Given the description of an element on the screen output the (x, y) to click on. 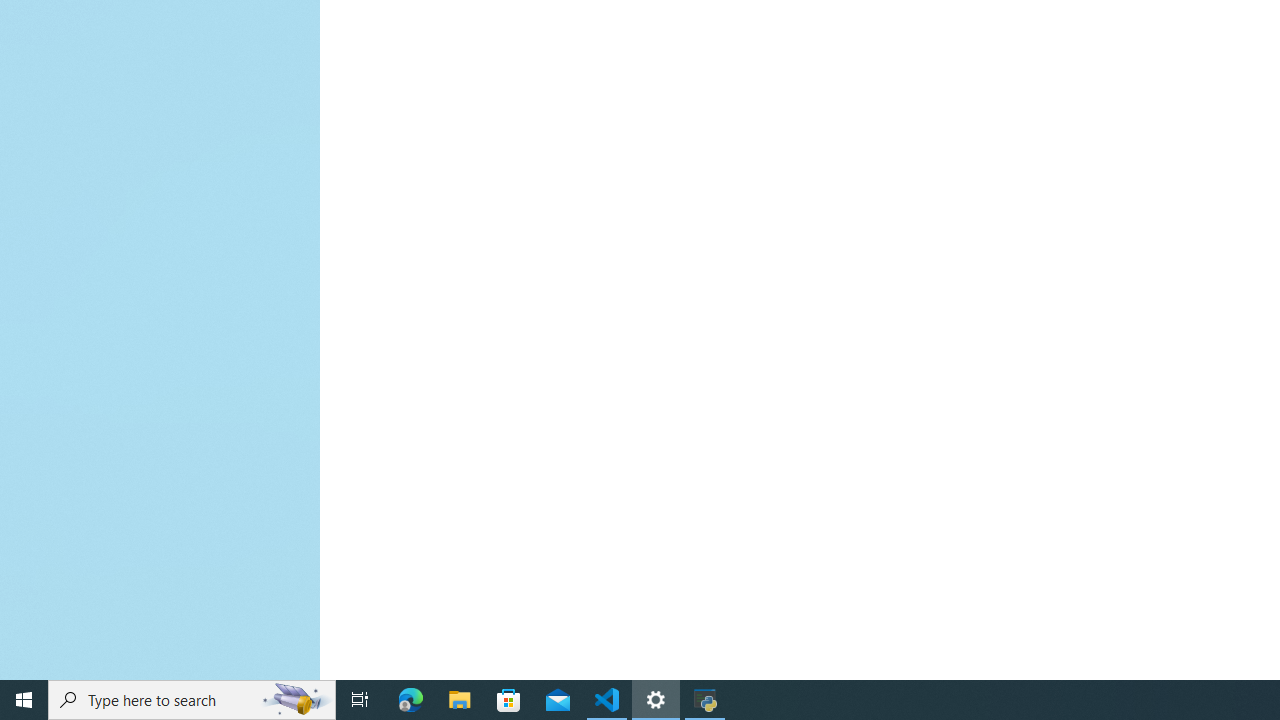
Microsoft Store (509, 699)
Microsoft Edge (411, 699)
Type here to search (191, 699)
File Explorer (460, 699)
Settings - 1 running window (656, 699)
Task View (359, 699)
Start (24, 699)
Search highlights icon opens search home window (295, 699)
Visual Studio Code - 1 running window (607, 699)
